Given the description of an element on the screen output the (x, y) to click on. 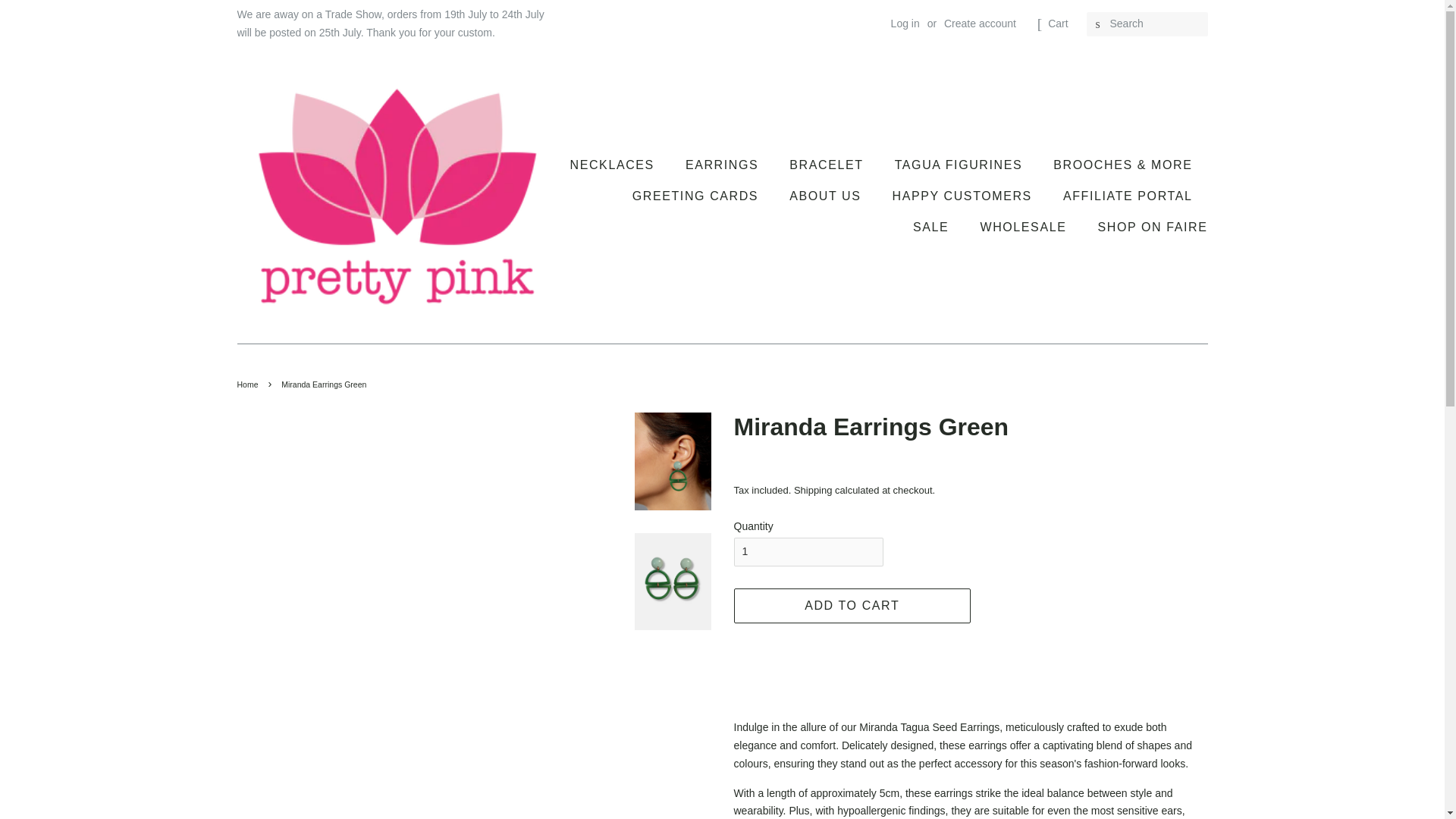
SHOP ON FAIRE (1146, 226)
AFFILIATE PORTAL (1129, 195)
EARRINGS (723, 164)
Home (248, 384)
TAGUA FIGURINES (960, 164)
Log in (905, 23)
SALE (932, 226)
Create account (979, 23)
HAPPY CUSTOMERS (963, 195)
NECKLACES (619, 164)
SEARCH (1097, 24)
Cart (1057, 24)
1 (808, 551)
BRACELET (827, 164)
GREETING CARDS (697, 195)
